Given the description of an element on the screen output the (x, y) to click on. 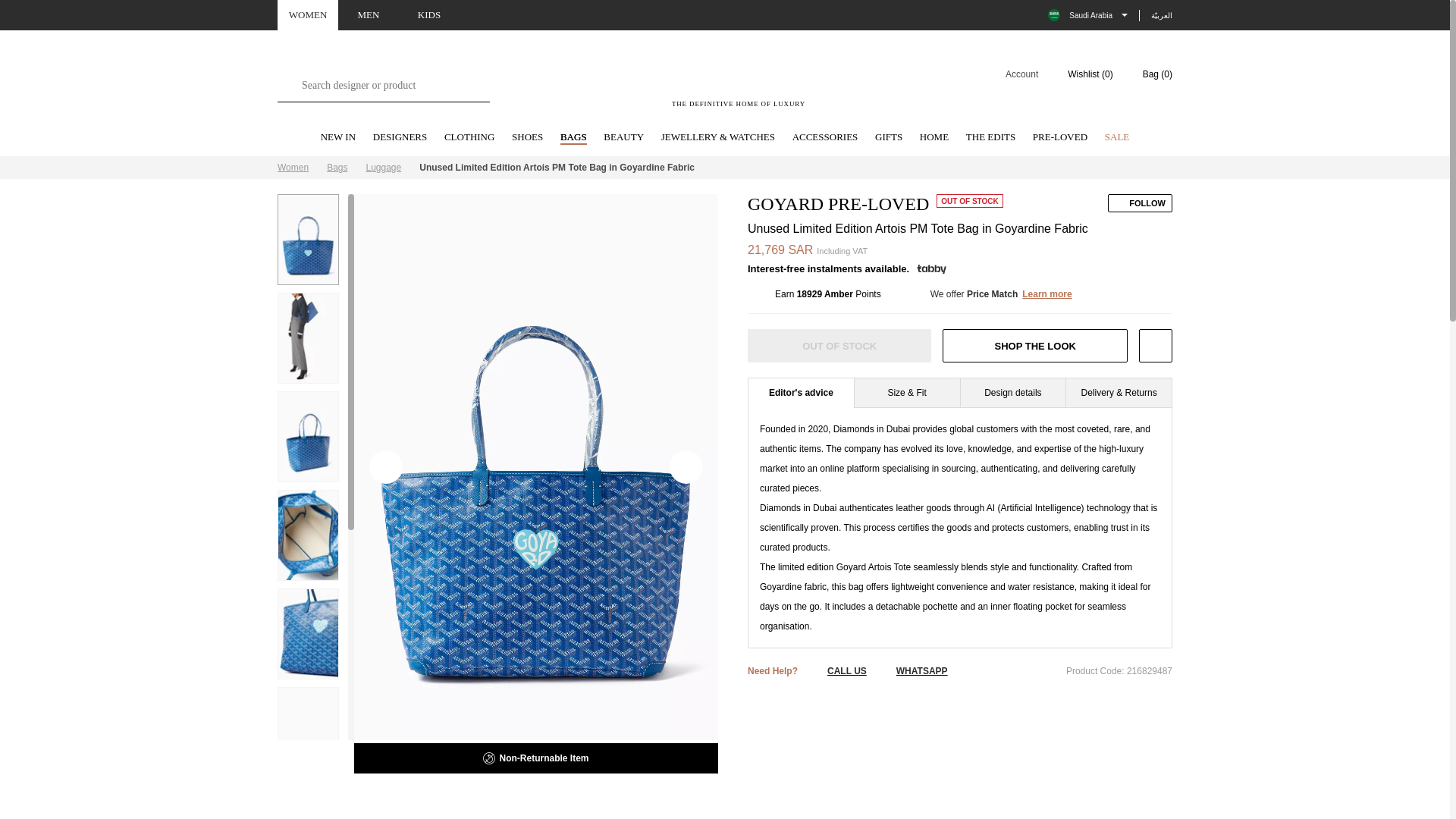
PRE-LOVED (1059, 137)
WOMEN (307, 15)
HOME (934, 137)
THE EDITS (990, 137)
BEAUTY (623, 137)
SHOES (527, 137)
NEW IN (337, 137)
Account (1012, 73)
KIDS (429, 15)
MEN (367, 15)
